Given the description of an element on the screen output the (x, y) to click on. 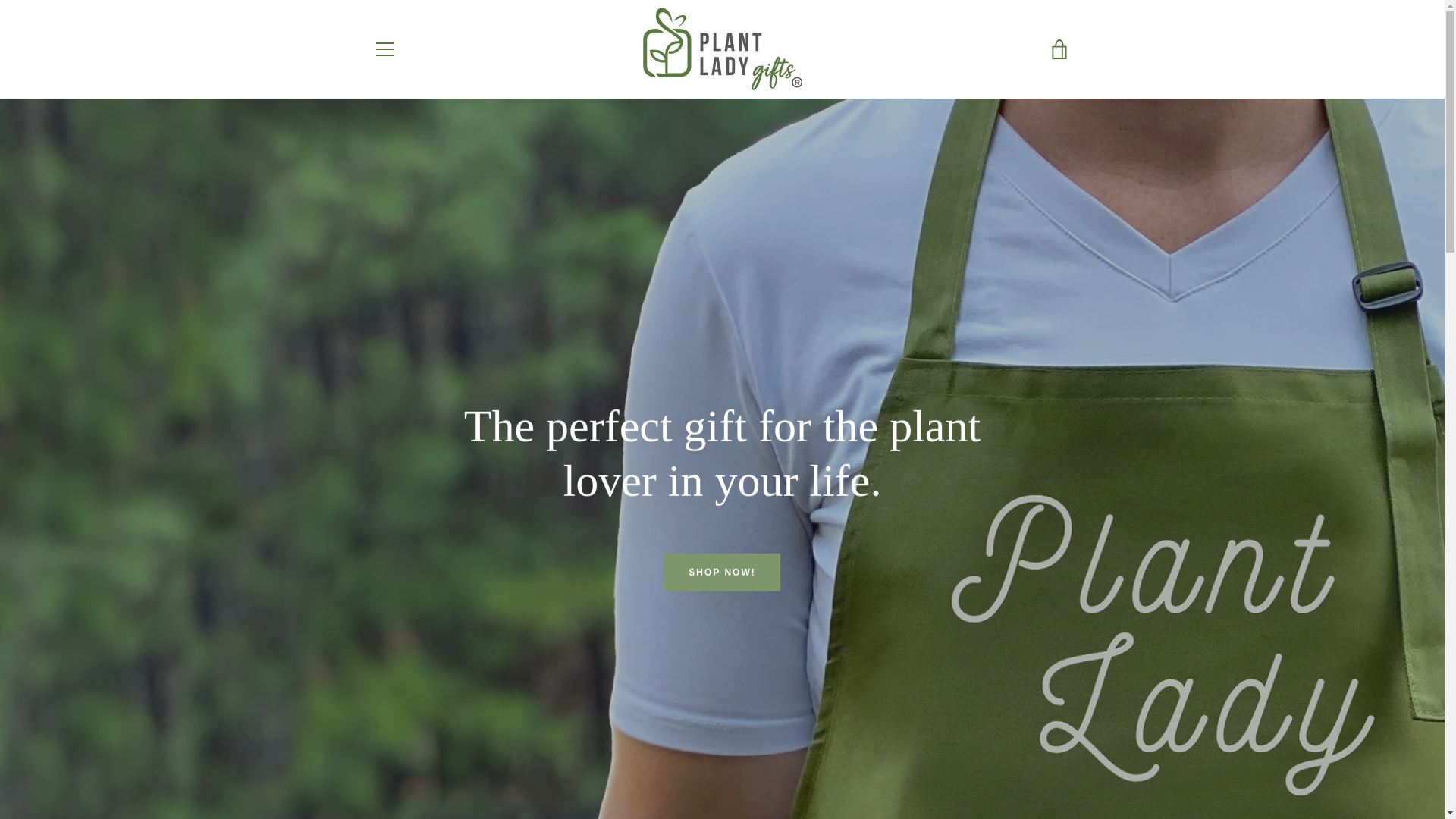
TERMS OF SERVICE (423, 629)
VIEW CART (1059, 48)
SHOP NOW! (720, 571)
SHOP (386, 562)
Plant Lady Gifts (760, 766)
REFUND POLICY (414, 674)
SUBSCRIBE (1029, 609)
ABOUT (390, 540)
Google Pay (1057, 755)
